Given the description of an element on the screen output the (x, y) to click on. 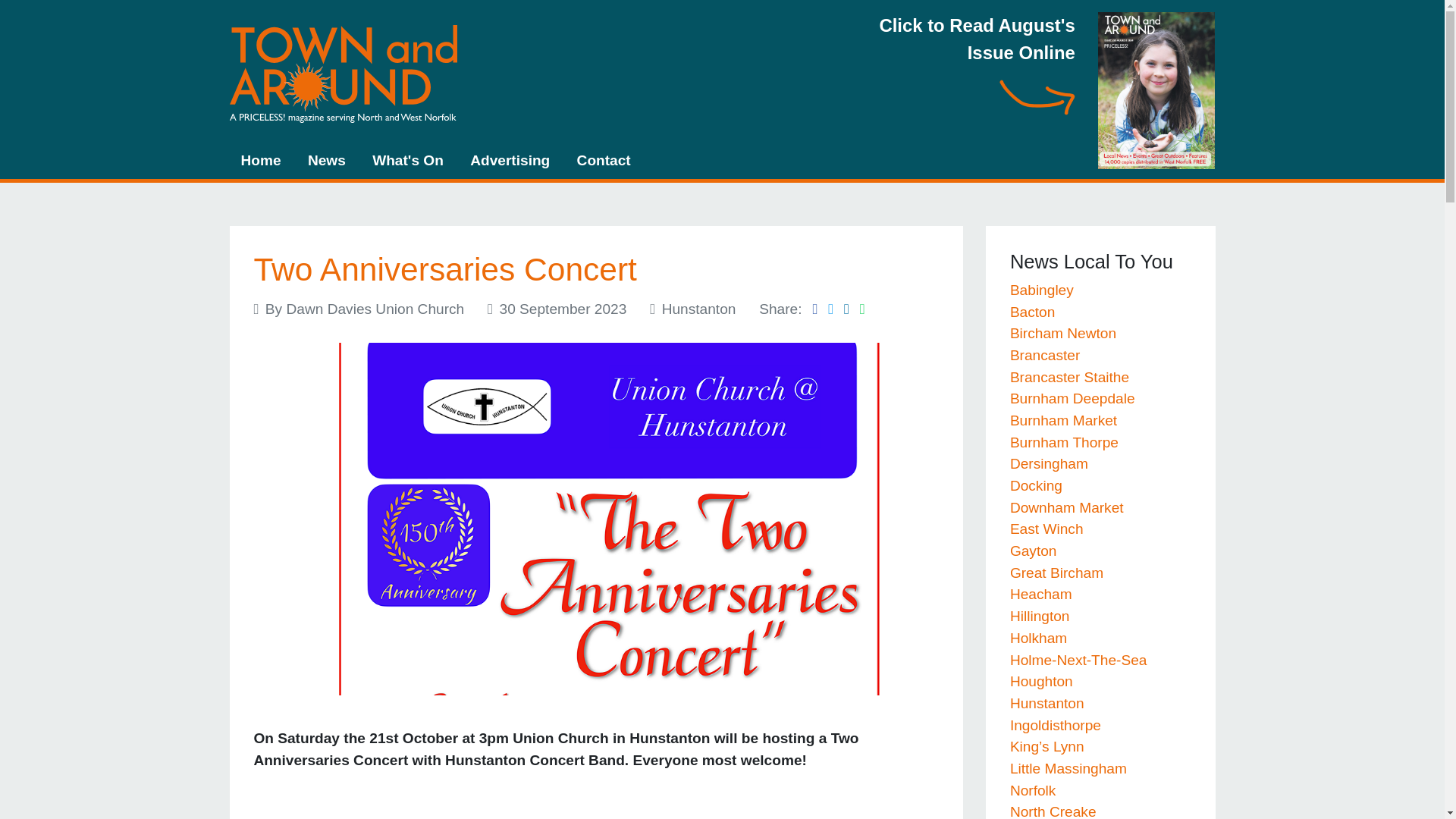
Dawn Davies Union Church (374, 308)
Hunstanton (1047, 703)
Bircham Newton (1063, 333)
Houghton (1041, 681)
Bacton (1032, 311)
Dersingham (1048, 463)
Home (260, 160)
Gayton (1033, 550)
Heacham (1040, 593)
Norfolk (1033, 790)
